Given the description of an element on the screen output the (x, y) to click on. 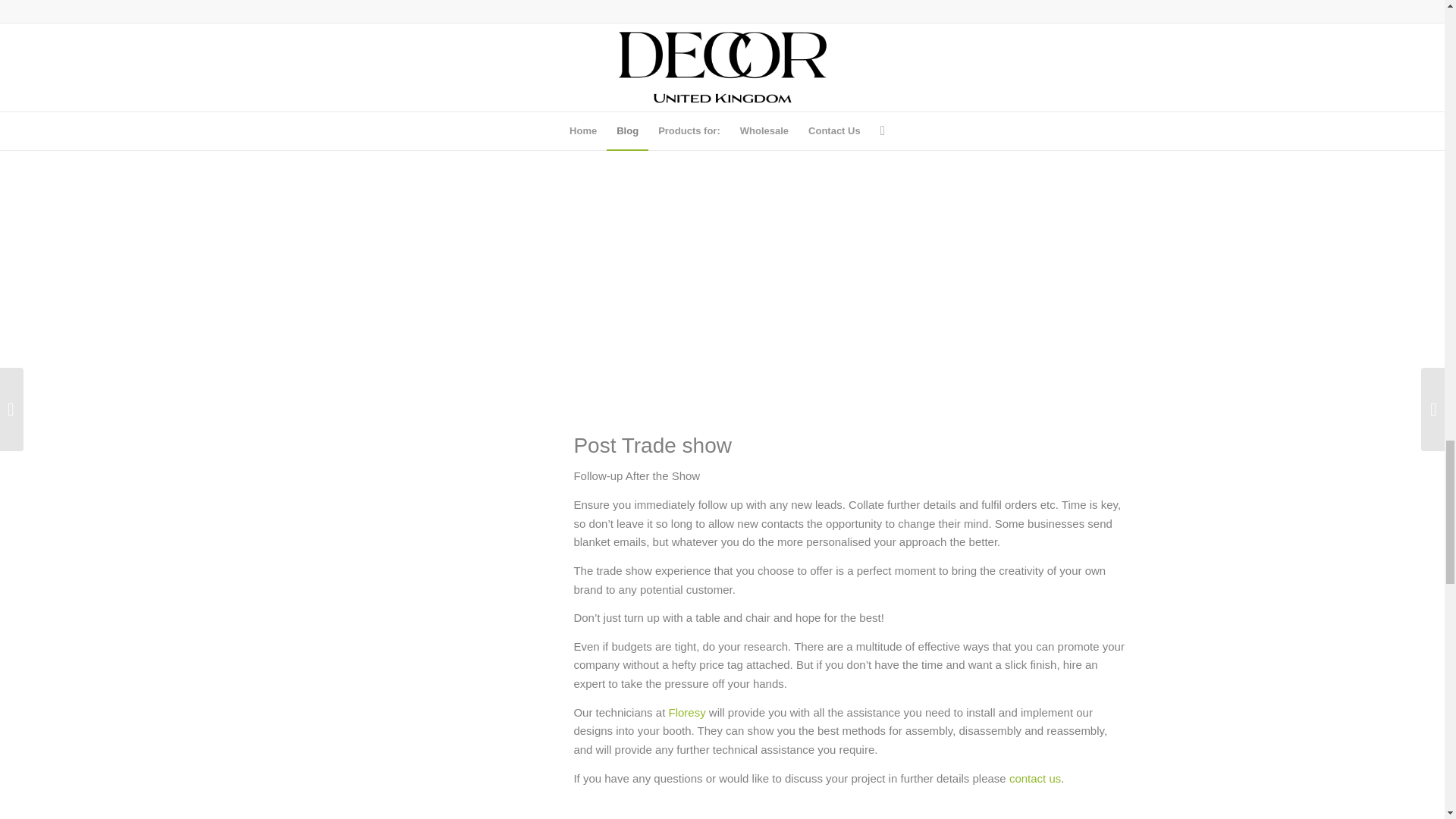
Floresy (686, 712)
contact us (1035, 778)
